Given the description of an element on the screen output the (x, y) to click on. 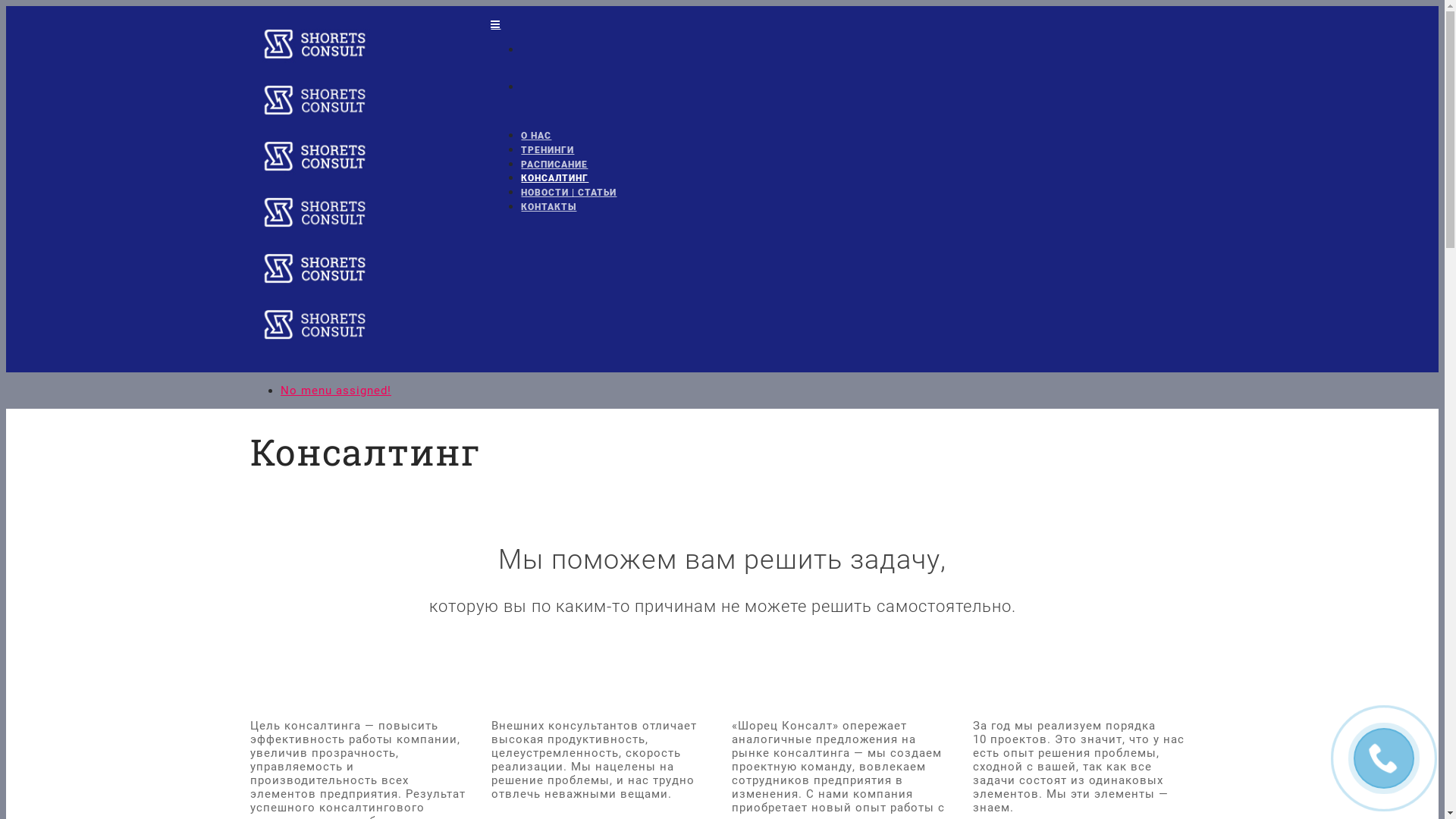
No menu assigned! Element type: text (335, 390)
